Given the description of an element on the screen output the (x, y) to click on. 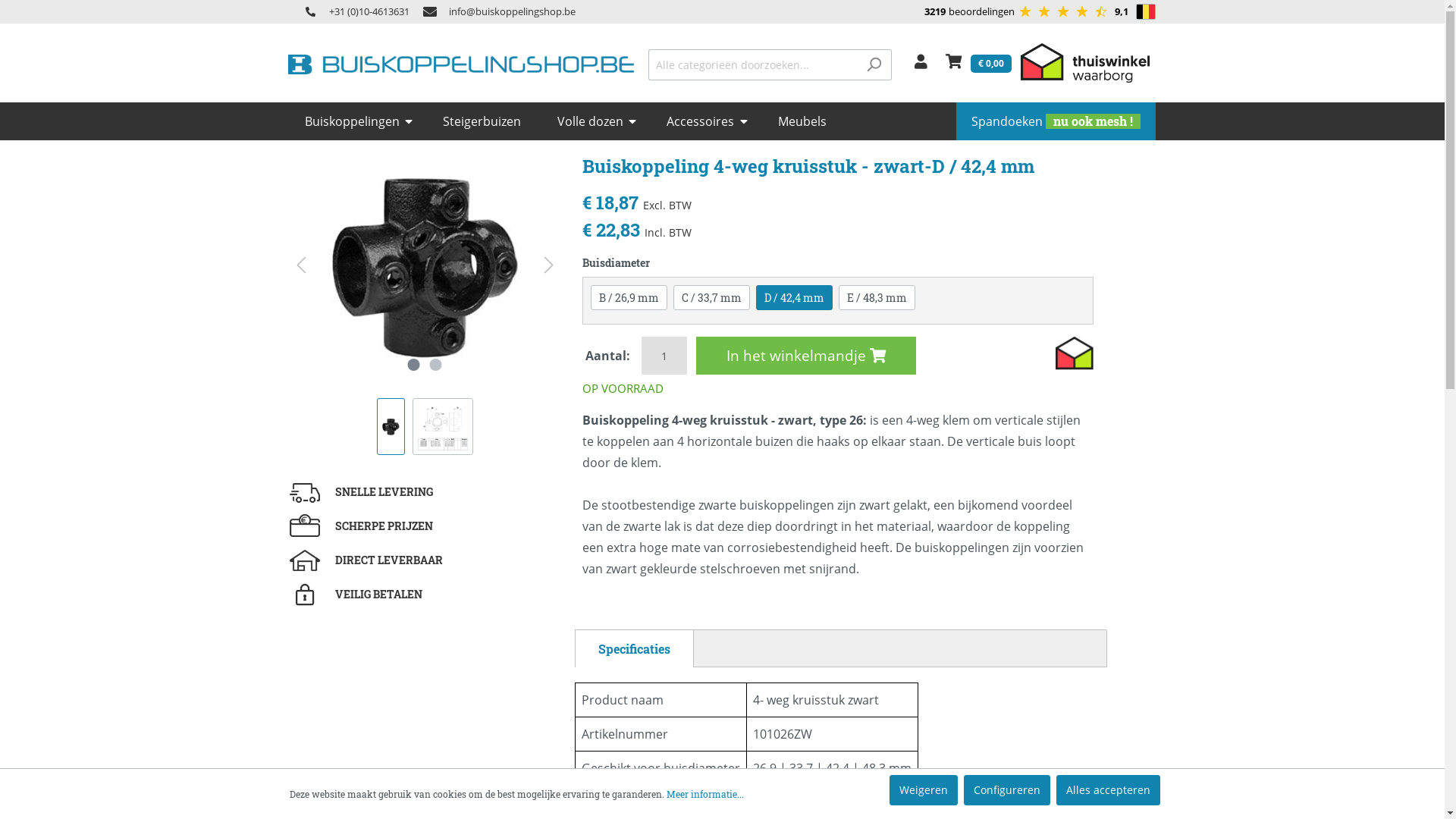
In het winkelmandje Element type: text (806, 355)
Buiskoppeling 4-weg kruisstuk - zwart-D / 42,4 mm Element type: hover (442, 426)
+31 (0)10-4613631 Element type: text (349, 11)
Accessoires Element type: text (706, 121)
Weigeren Element type: text (922, 790)
Naar de startpagina Element type: hover (461, 64)
Buiskoppeling 4-weg kruisstuk - zwart-D / 42,4 mm Element type: hover (390, 426)
info@buiskoppelingshop.be Element type: text (492, 11)
Specificaties Element type: text (633, 648)
Buiskoppelingen Element type: text (358, 121)
Meubels Element type: text (804, 121)
Buiskoppeling 4-weg kruisstuk - zwart-D / 42,4 mm Element type: hover (425, 264)
Volle dozen Element type: text (596, 121)
Configureren Element type: text (1006, 790)
Alles accepteren Element type: text (1107, 790)
3219
beoordelingen
9,1 Element type: text (1025, 11)
Spandoeken
nu ook mesh ! Element type: text (1054, 121)
Meer informatie... Element type: text (704, 793)
Steigerbuizen Element type: text (484, 121)
